Given the description of an element on the screen output the (x, y) to click on. 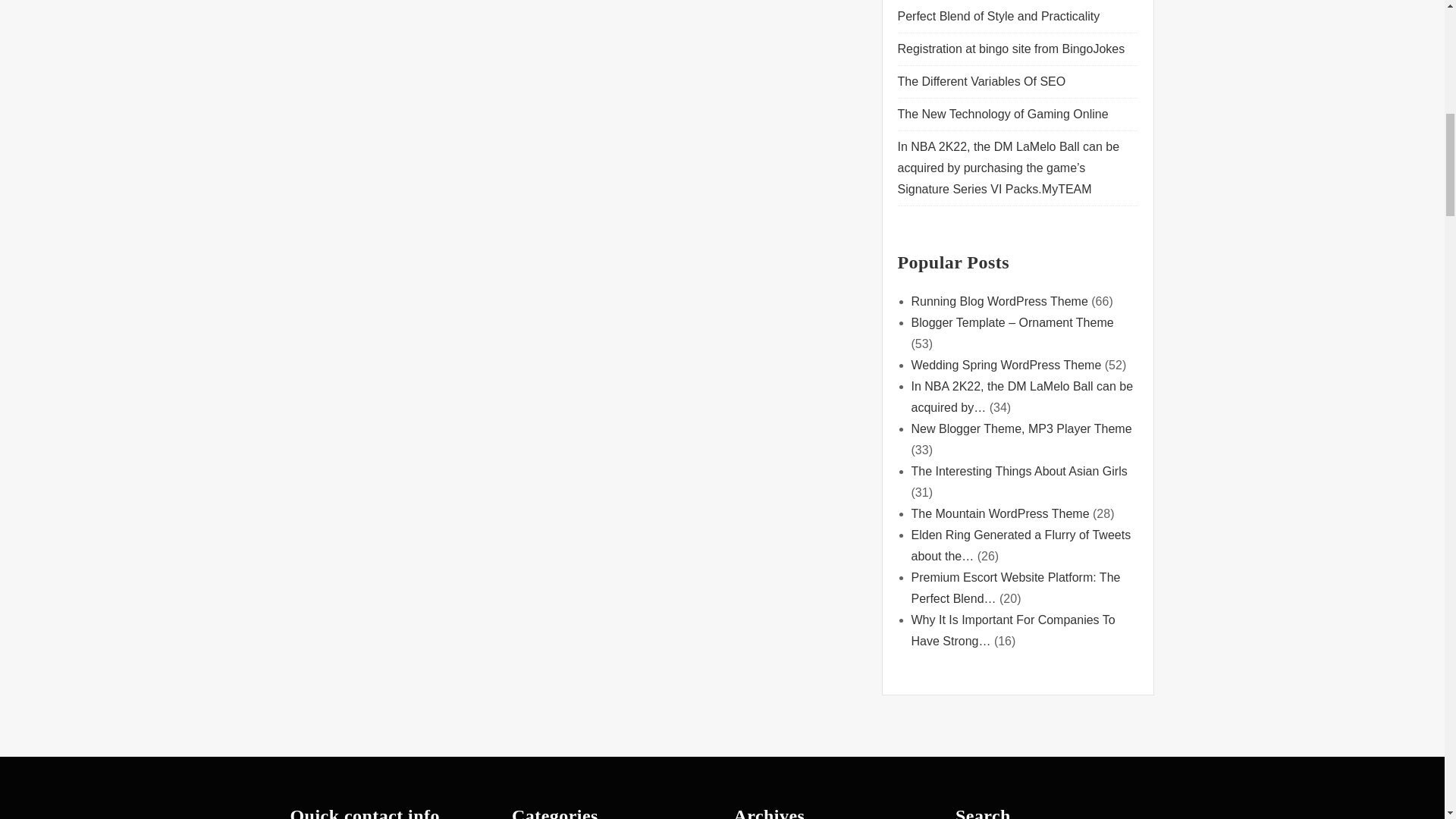
The Interesting Things About Asian Girls (1018, 471)
Wedding Spring WordPress Theme (1006, 364)
New Blogger Theme, MP3 Player Theme (1021, 428)
The Mountain WordPress Theme (1000, 513)
The Different Variables Of SEO (981, 81)
The New Technology of Gaming Online (1003, 113)
Running Blog WordPress Theme (999, 300)
Registration at bingo site from BingoJokes  (1013, 48)
